Given the description of an element on the screen output the (x, y) to click on. 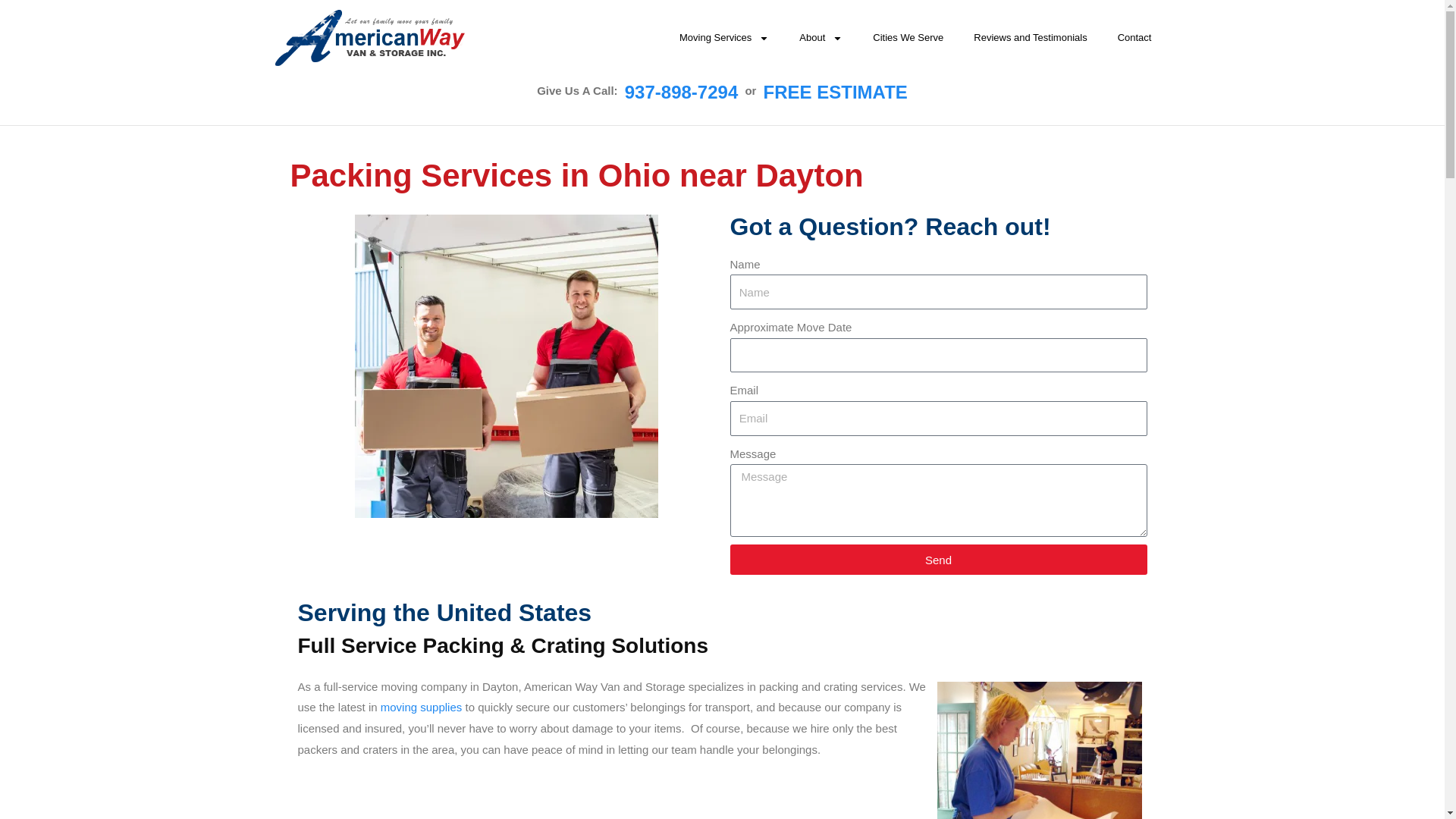
Contact (1134, 37)
Moving Services (723, 37)
Packing Services in Dayton (1039, 750)
Cities We Serve (907, 37)
About (820, 37)
Reviews and Testimonials (1030, 37)
Moving Supplies (421, 707)
